Given the description of an element on the screen output the (x, y) to click on. 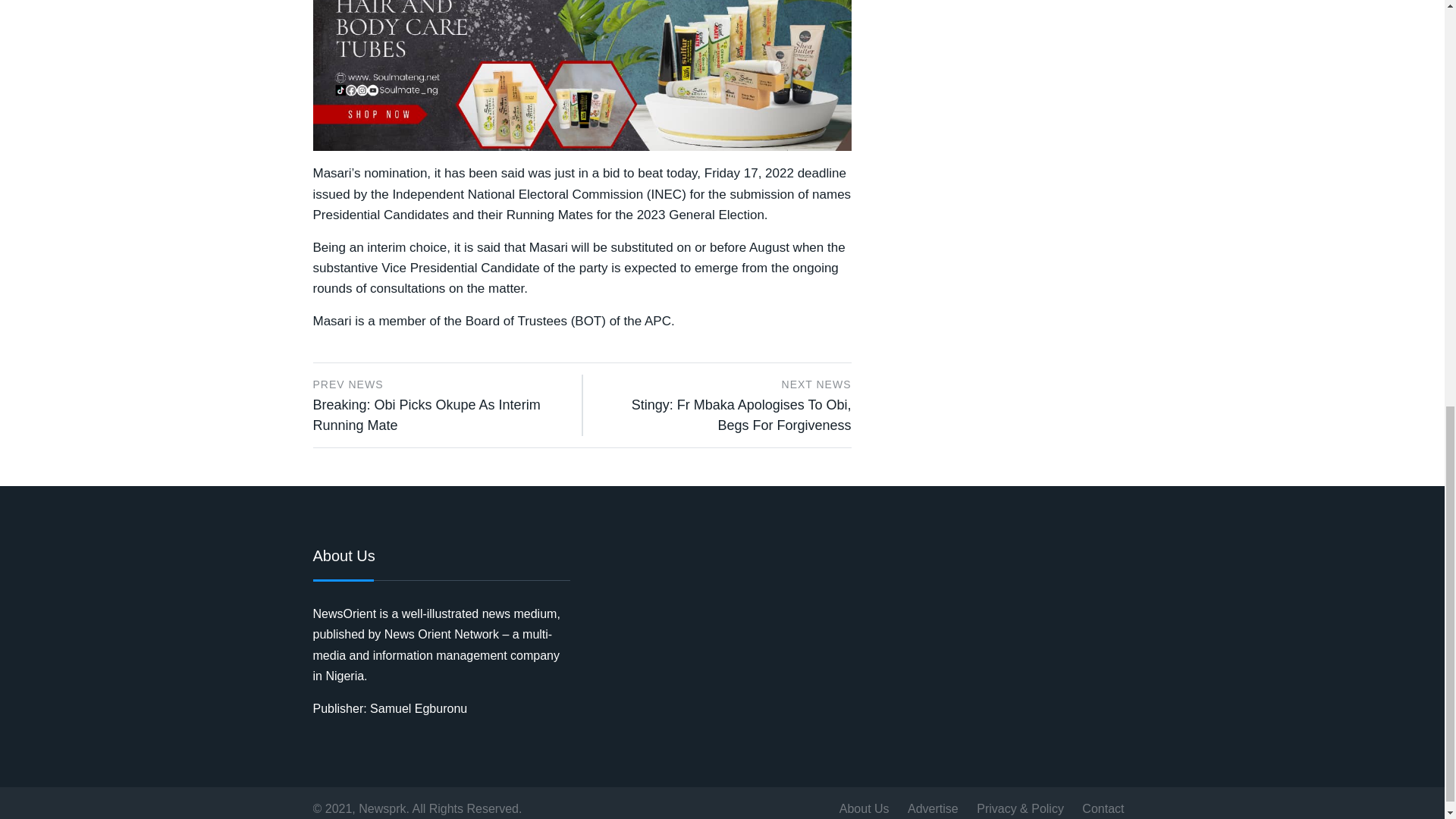
Stingy: Fr Mbaka Apologises To Obi, Begs For Forgiveness (741, 415)
Breaking: Obi Picks Okupe As Interim Running Mate (426, 415)
Contact (1102, 808)
Advertise (932, 808)
About Us (863, 808)
